Given the description of an element on the screen output the (x, y) to click on. 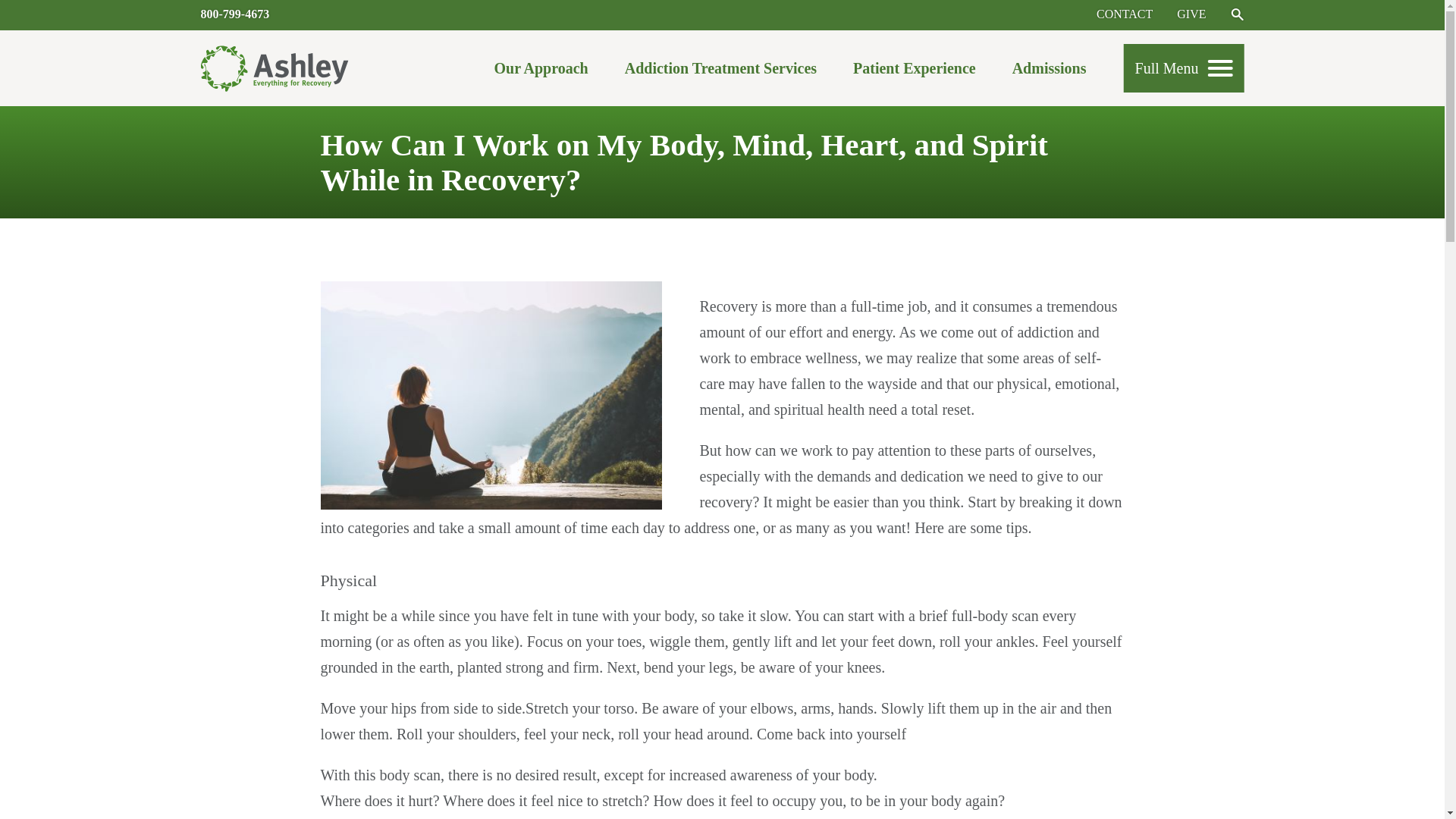
Search (1236, 14)
800-799-4673 (234, 14)
Patient Experience (914, 71)
GIVE (1190, 14)
Addiction Treatment Services (720, 71)
Our Approach (540, 71)
Admissions (1048, 71)
CONTACT (1124, 14)
